Given the description of an element on the screen output the (x, y) to click on. 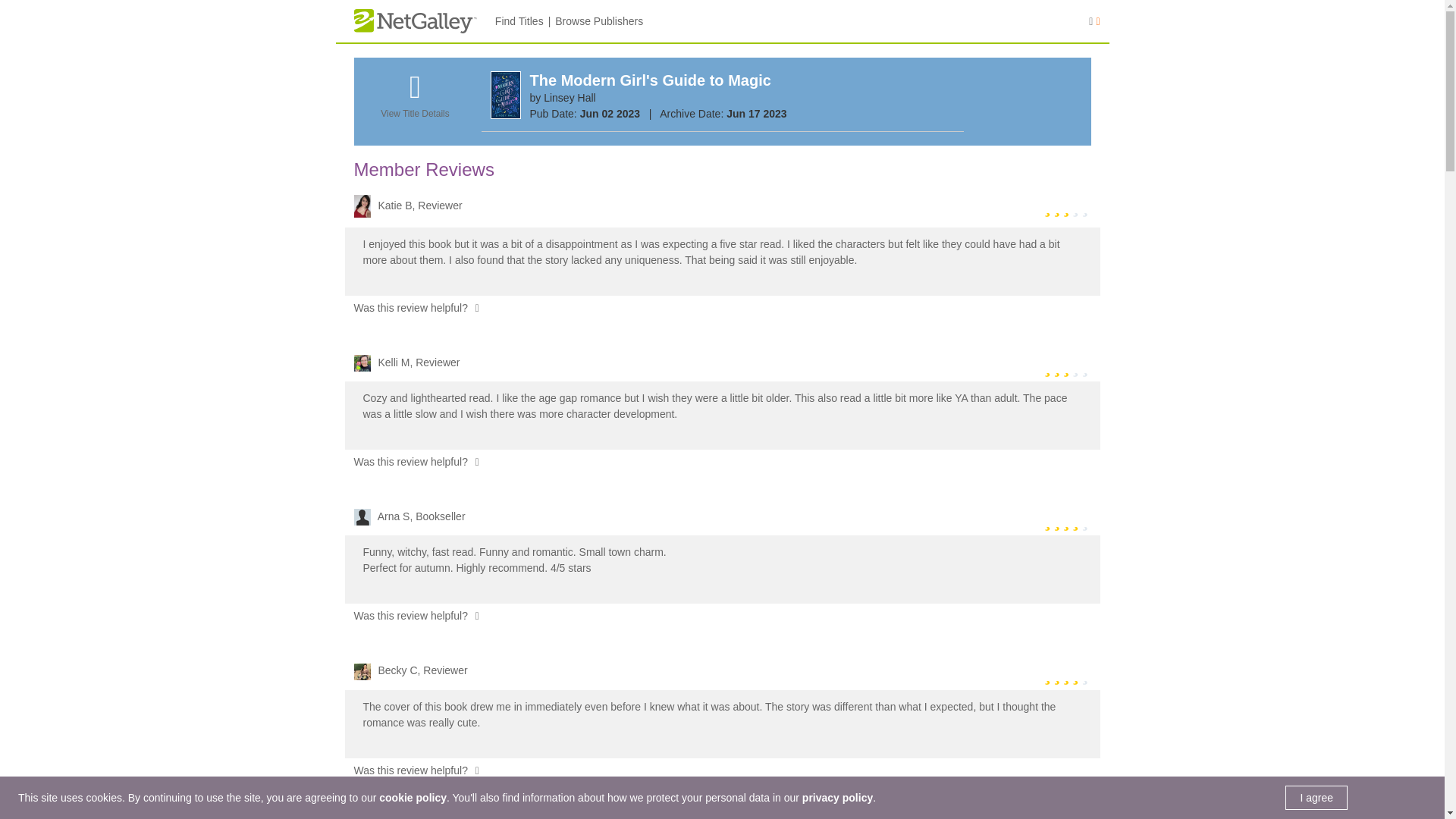
View Title Details (414, 104)
Find Titles (519, 21)
Browse Publishers (598, 21)
The Modern Girl's Guide to Magic (649, 80)
